Given the description of an element on the screen output the (x, y) to click on. 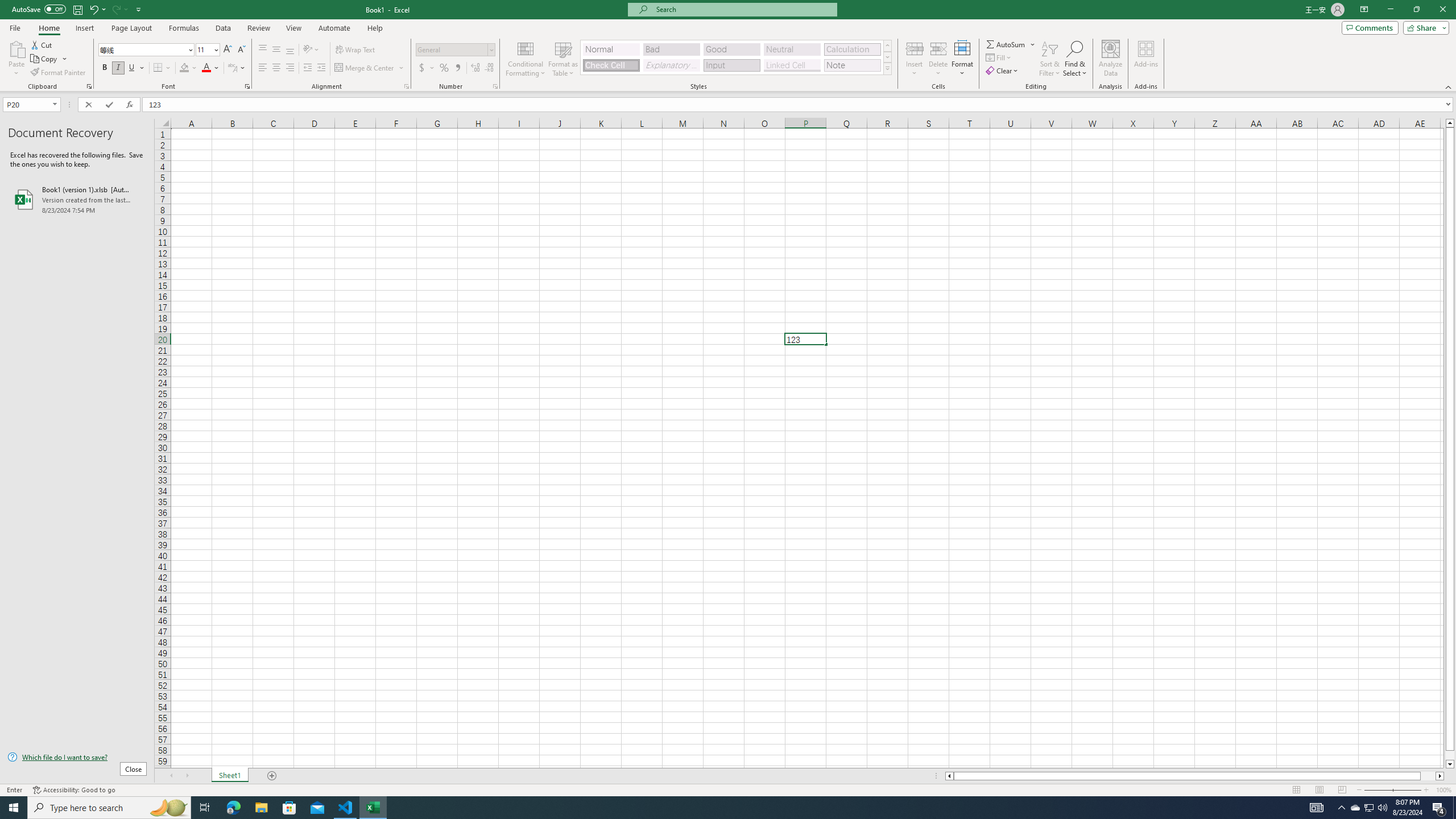
Percent Style (443, 67)
Book1 (version 1).xlsb  [AutoRecovered] (77, 199)
Good (731, 49)
Borders (162, 67)
Which file do I want to save? (77, 757)
Fill (999, 56)
Customize Quick Access Toolbar (139, 9)
Class: MsoCommandBar (728, 45)
Review (258, 28)
Bottom Border (157, 67)
Font Size (207, 49)
Add Sheet (272, 775)
Fill Color (188, 67)
